Given the description of an element on the screen output the (x, y) to click on. 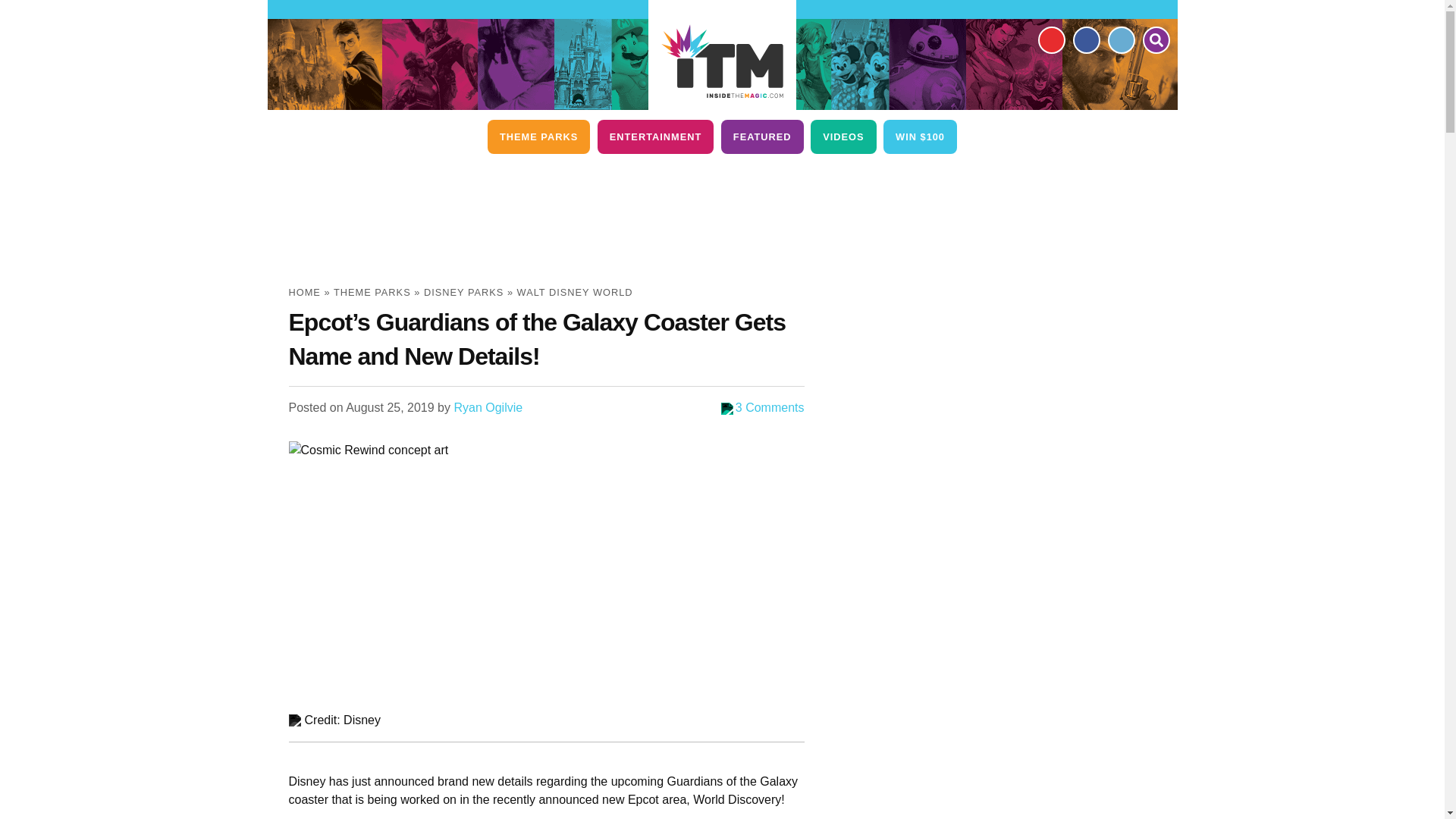
Twitter (1120, 40)
YouTube (1050, 40)
Facebook (1085, 40)
FEATURED (761, 136)
THEME PARKS (538, 136)
Search (1155, 40)
ENTERTAINMENT (655, 136)
